Given the description of an element on the screen output the (x, y) to click on. 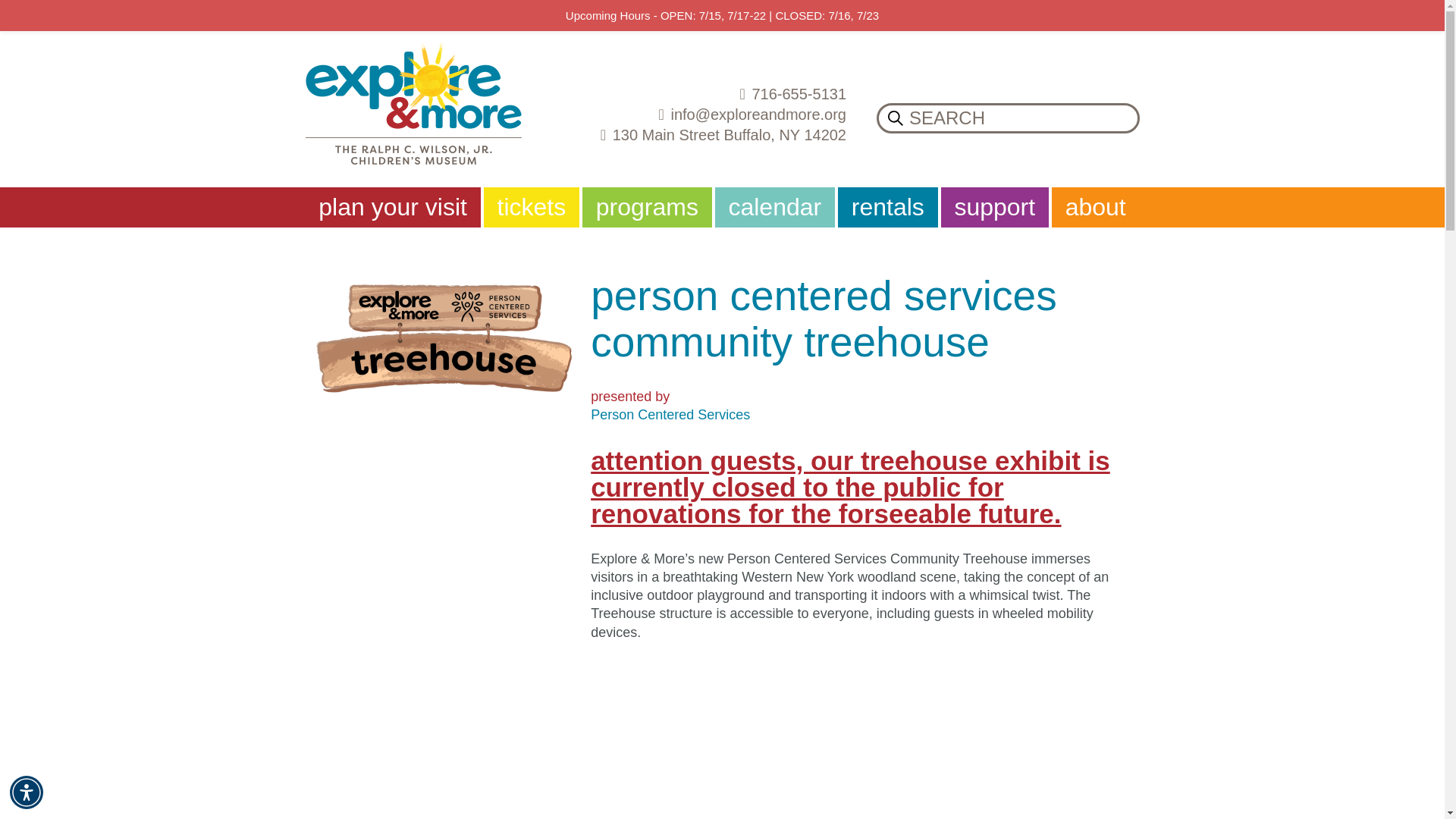
plan your visit (393, 207)
tickets (532, 207)
716-655-5131 (699, 94)
Accessibility Menu (26, 792)
Search (895, 118)
programs (648, 207)
Search (1008, 118)
130 Main Street Buffalo, NY 14202 (699, 135)
Search (895, 118)
